Given the description of an element on the screen output the (x, y) to click on. 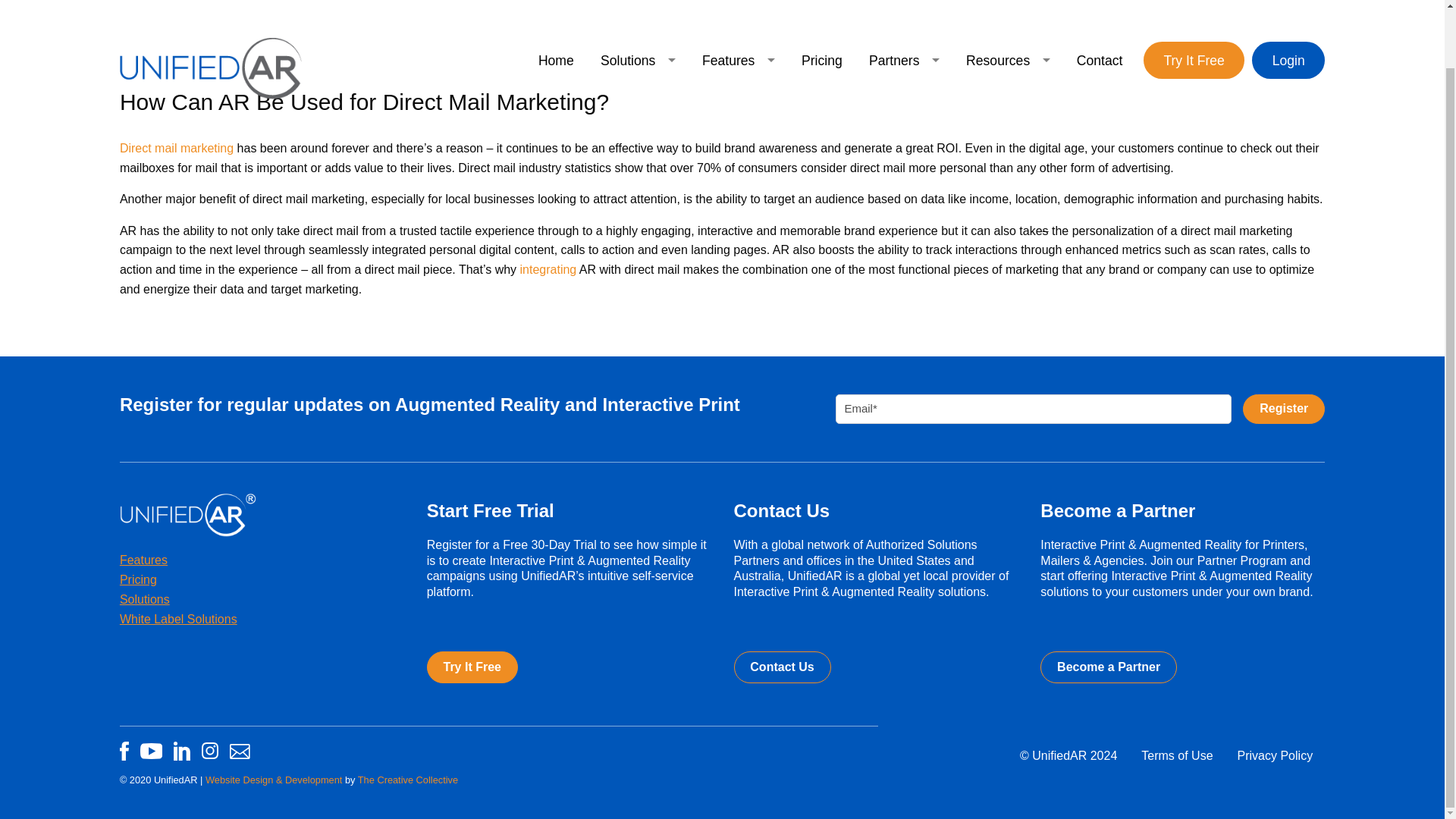
Home (555, 7)
Features (737, 7)
Register (1283, 408)
Submit (1283, 408)
Unified AR (210, 5)
Solutions (637, 7)
